Given the description of an element on the screen output the (x, y) to click on. 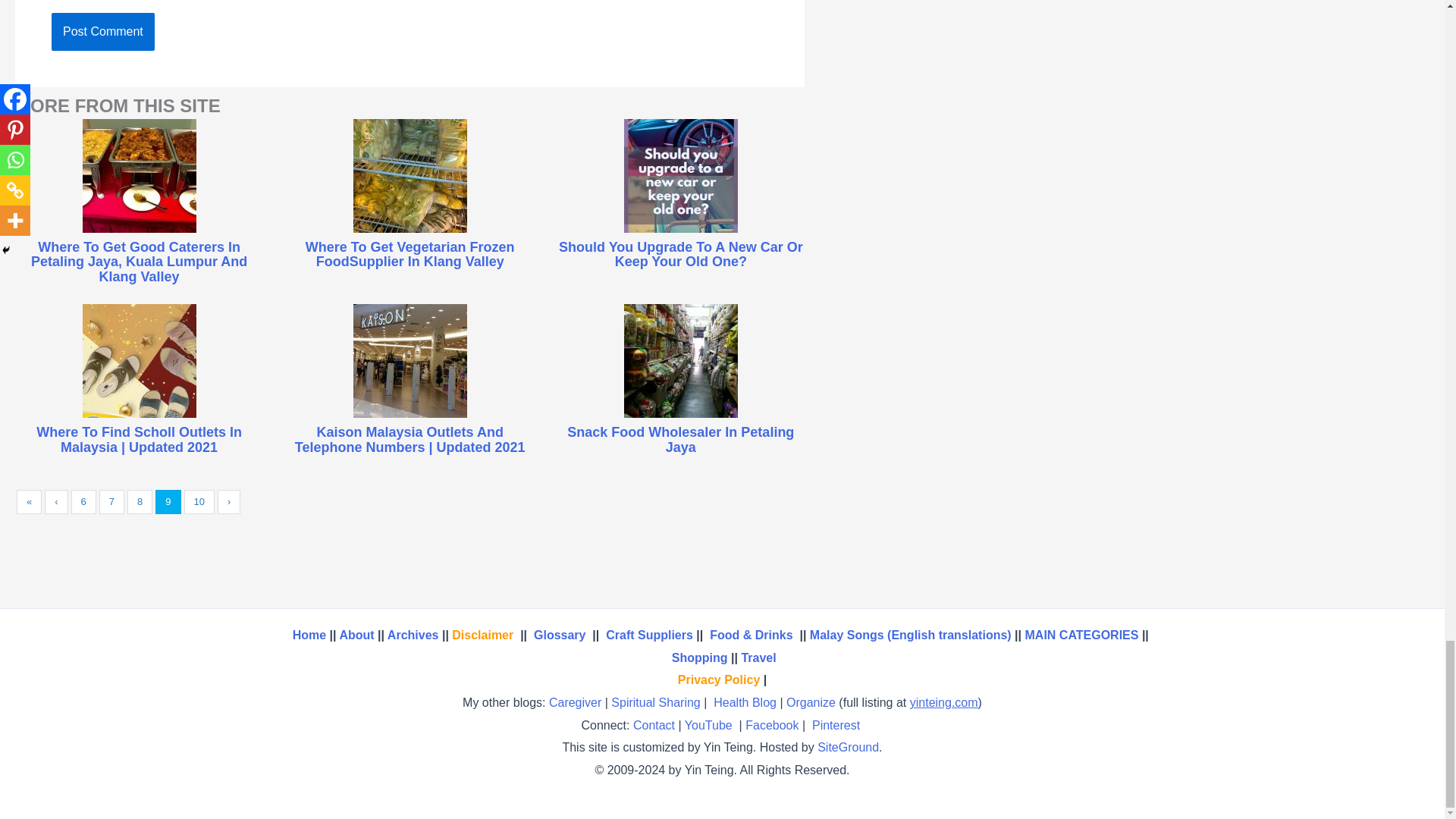
Post Comment (102, 31)
